Given the description of an element on the screen output the (x, y) to click on. 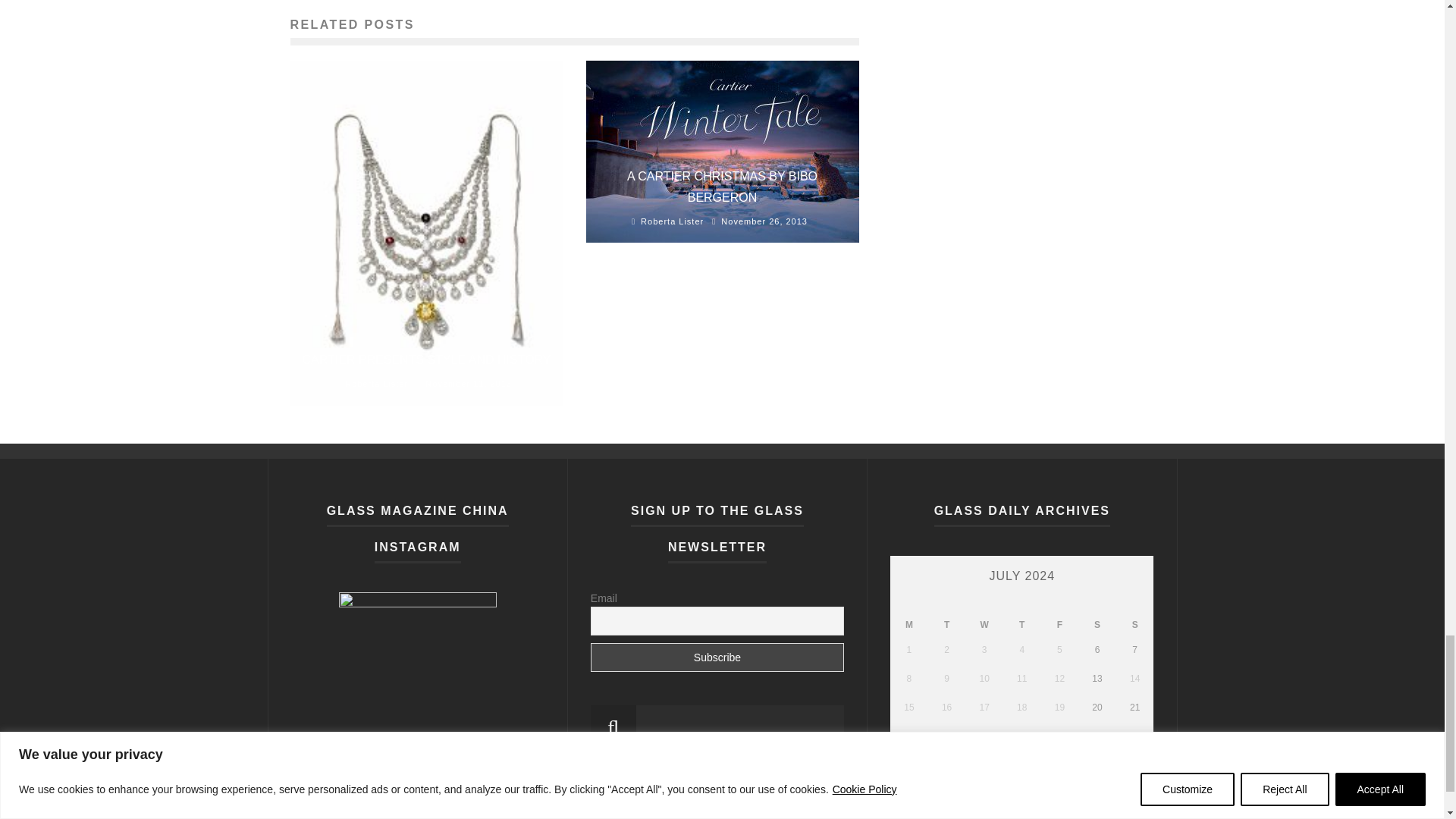
Subscribe (717, 656)
